Given the description of an element on the screen output the (x, y) to click on. 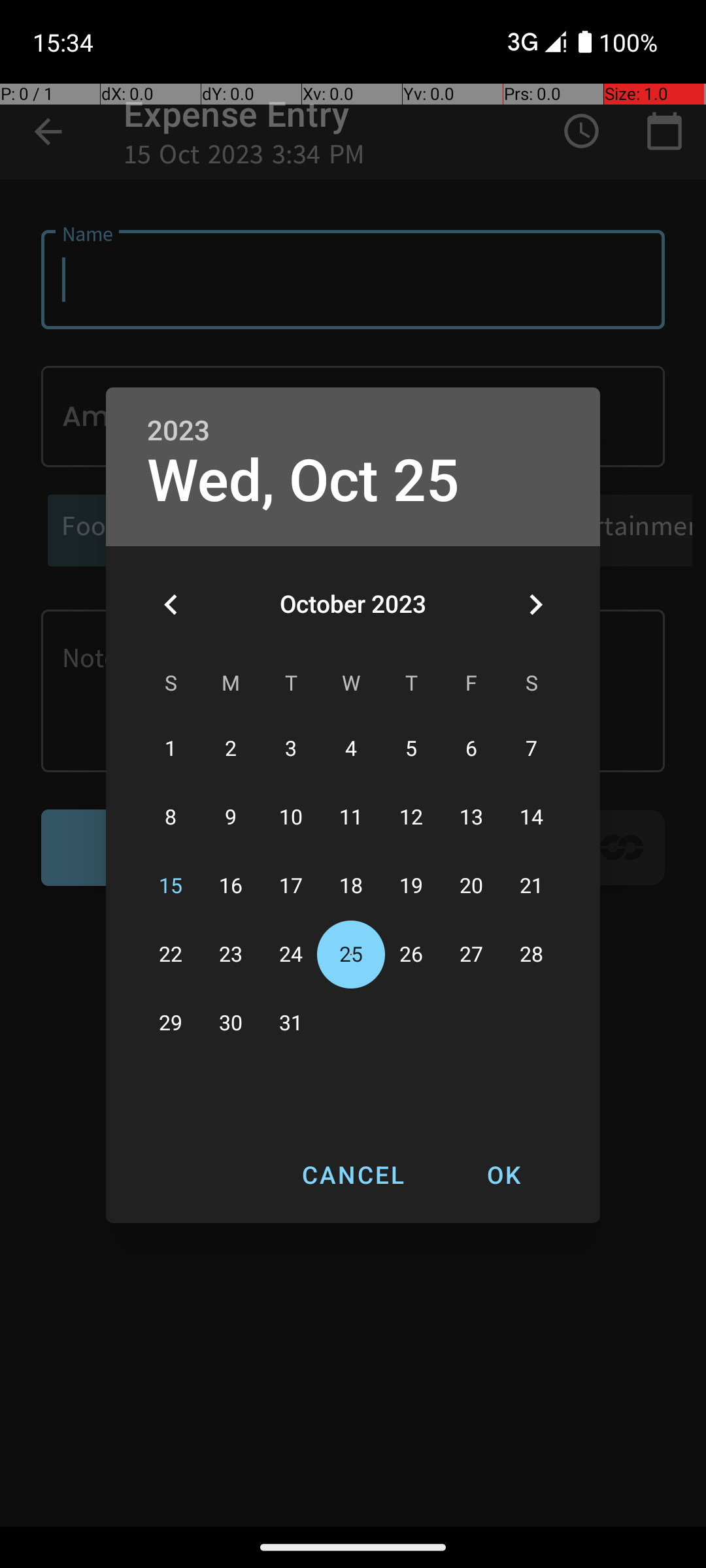
Wed, Oct 25 Element type: android.widget.TextView (303, 480)
